Given the description of an element on the screen output the (x, y) to click on. 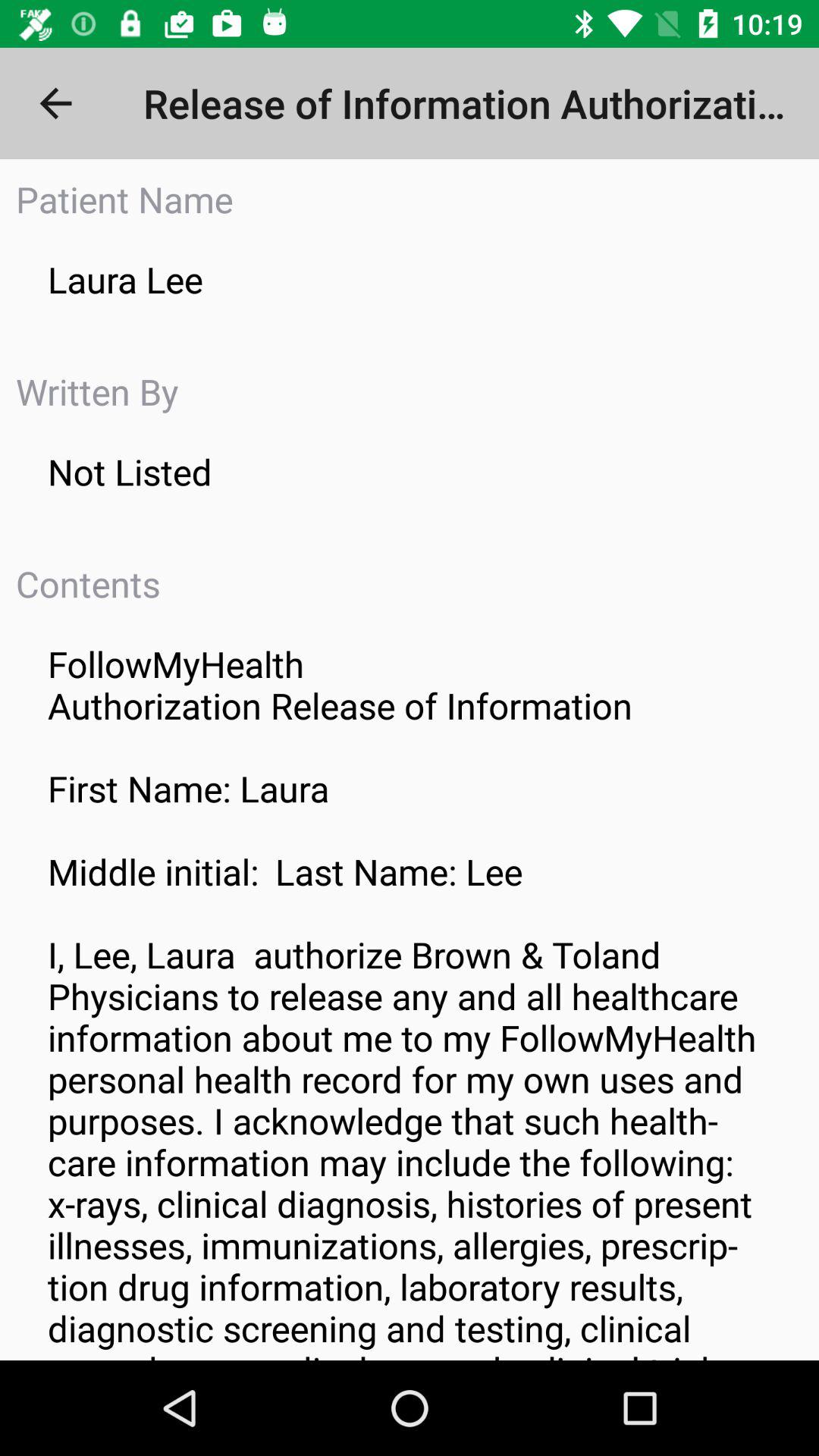
open the icon next to release of information item (55, 103)
